Given the description of an element on the screen output the (x, y) to click on. 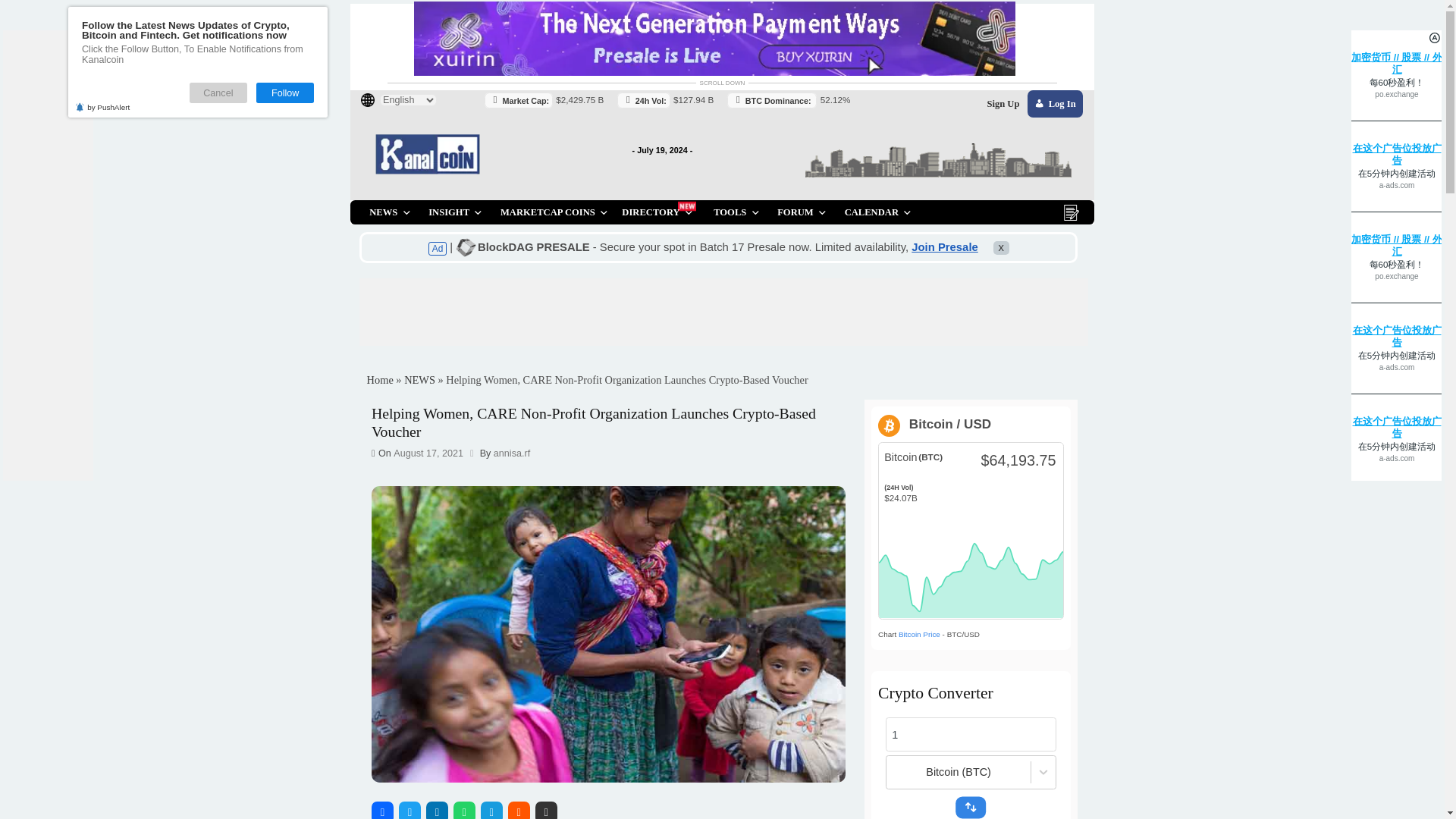
1 (1078, 808)
Log In (1172, 114)
Advertisement (730, 314)
Sign Up (1114, 114)
